Given the description of an element on the screen output the (x, y) to click on. 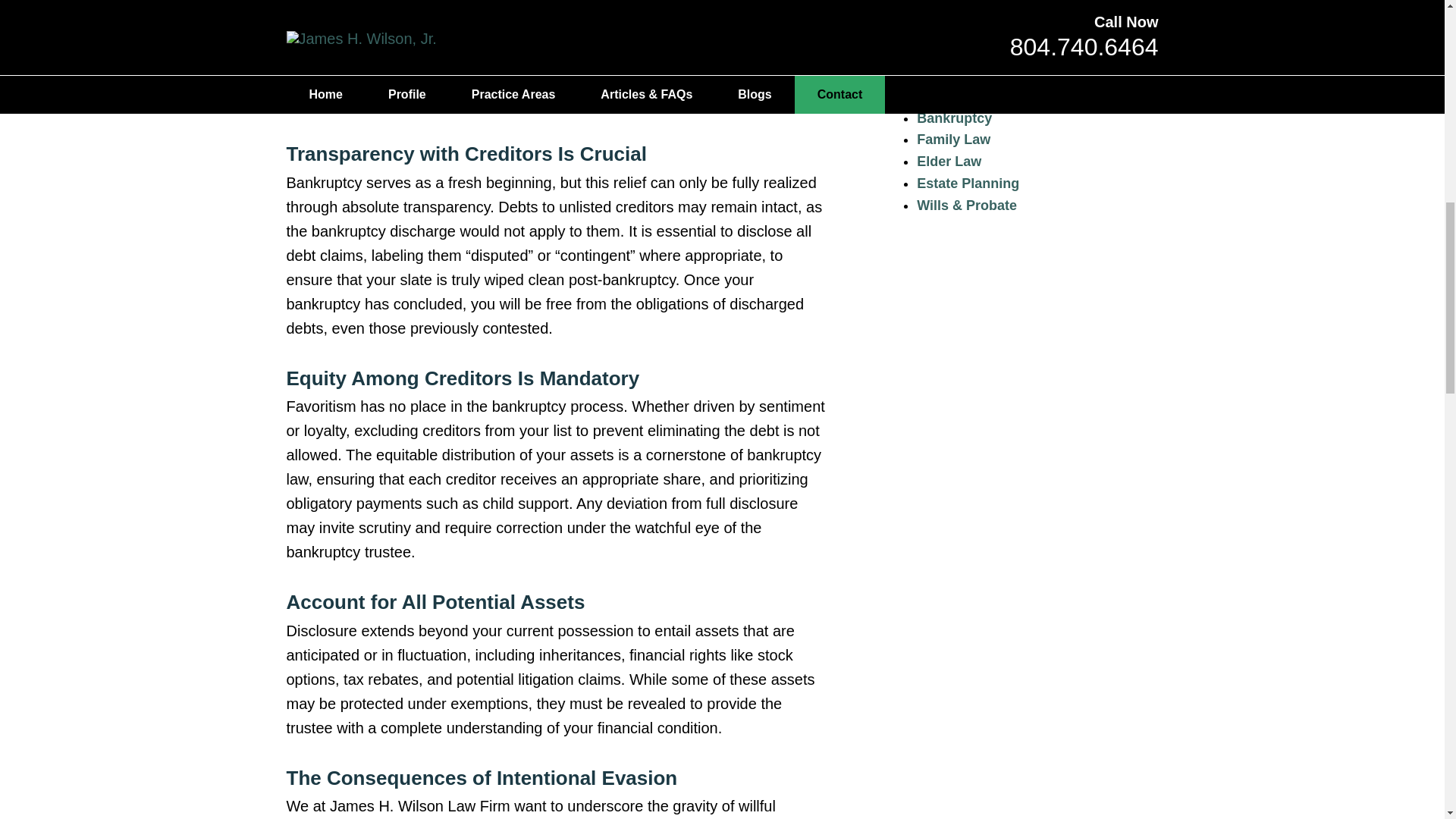
Estate Planning (968, 183)
Contact Us Now (1012, 13)
Family Law (953, 139)
Elder Law (949, 160)
Bankruptcy (954, 118)
